Given the description of an element on the screen output the (x, y) to click on. 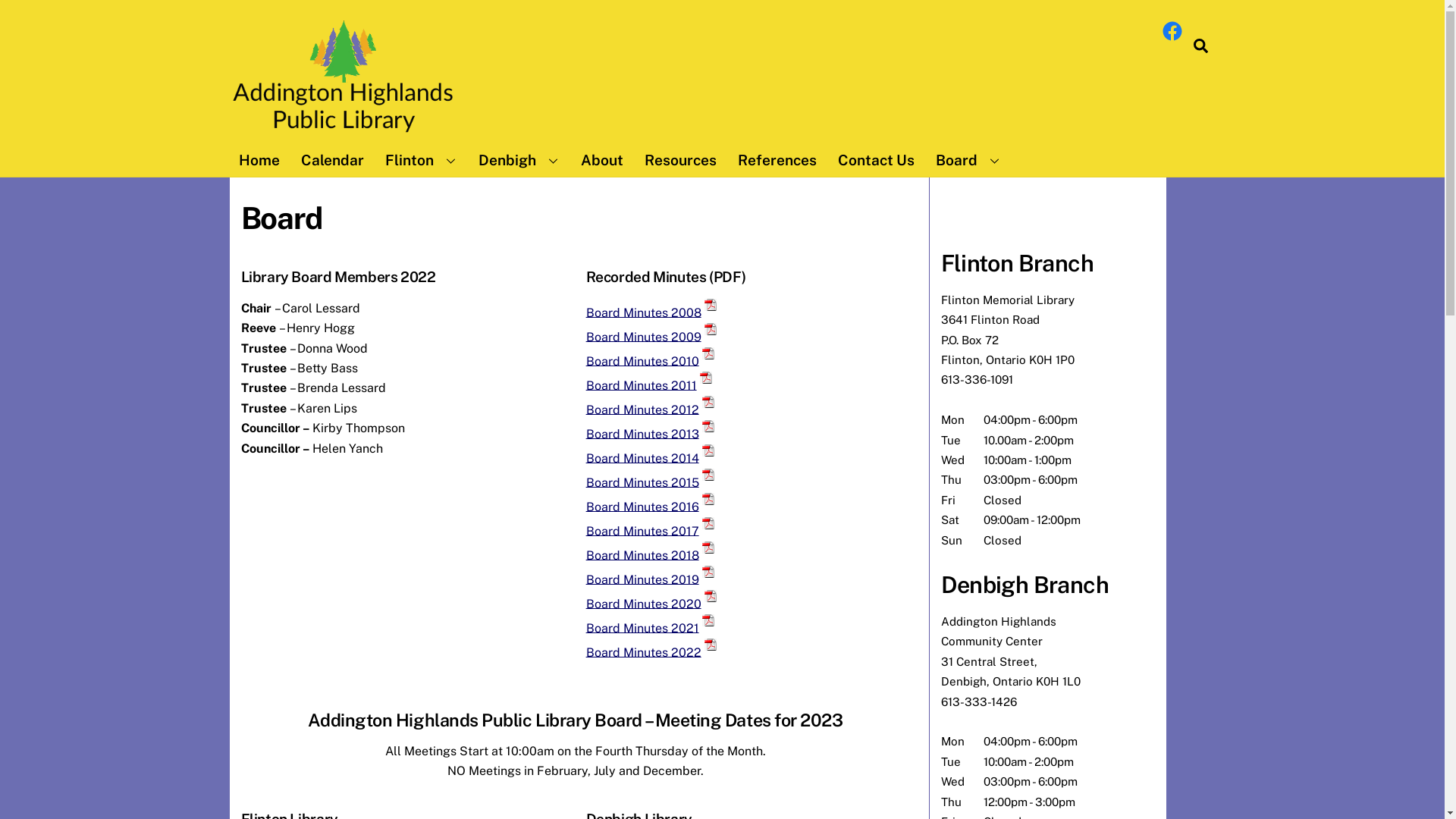
Addington High Lands Public Library Element type: hover (342, 133)
Denbigh Element type: text (518, 159)
Board Minutes 2016 Element type: text (642, 505)
Facebook Element type: text (1171, 30)
Board Minutes 2010 Element type: text (642, 360)
Board Minutes 2019 Element type: text (642, 578)
Board Minutes 2008 Element type: text (643, 311)
Home Element type: text (258, 159)
Board Minutes 2014 Element type: text (642, 457)
Board Minutes 2022 Element type: text (643, 651)
References Element type: text (776, 159)
Board Minutes 2018 Element type: text (642, 554)
Board Minutes 2015 Element type: text (642, 481)
Contact Us Element type: text (875, 159)
Calendar Element type: text (331, 159)
Board Element type: text (968, 159)
Board Minutes 2009 Element type: text (643, 336)
Search Element type: text (1200, 44)
Board Minutes 2012 Element type: text (642, 408)
Board Minutes 2020 Element type: text (643, 603)
Resources Element type: text (680, 159)
Board Minutes 2017 Element type: text (642, 530)
Board Minutes 2013 Element type: text (642, 433)
Board Minutes 2011 Element type: text (641, 384)
Addington Highlands Public Library Element type: hover (342, 78)
Flinton Element type: text (420, 159)
Board Minutes 2021 Element type: text (642, 627)
About Element type: text (601, 159)
